Given the description of an element on the screen output the (x, y) to click on. 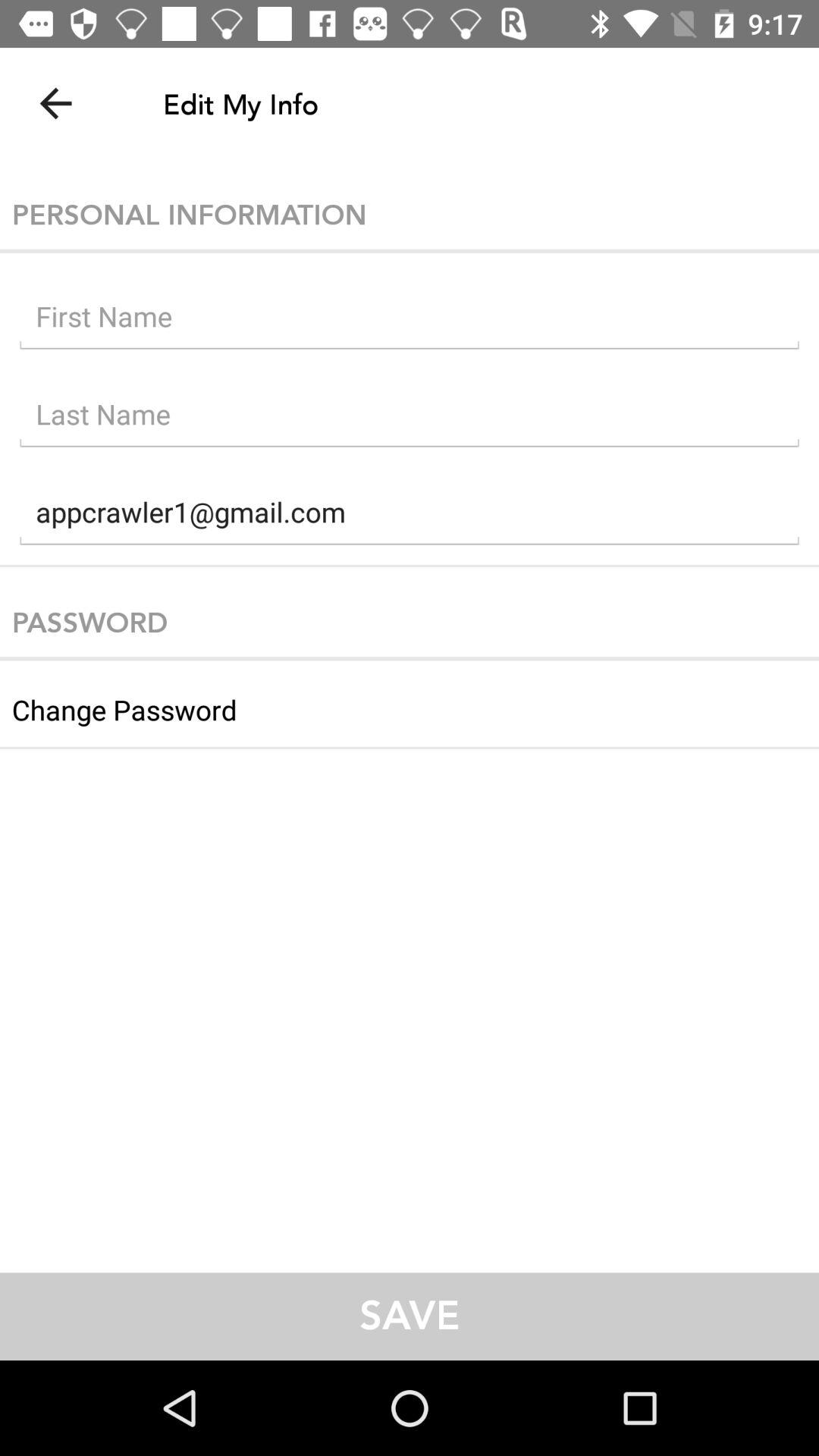
input information (409, 320)
